Given the description of an element on the screen output the (x, y) to click on. 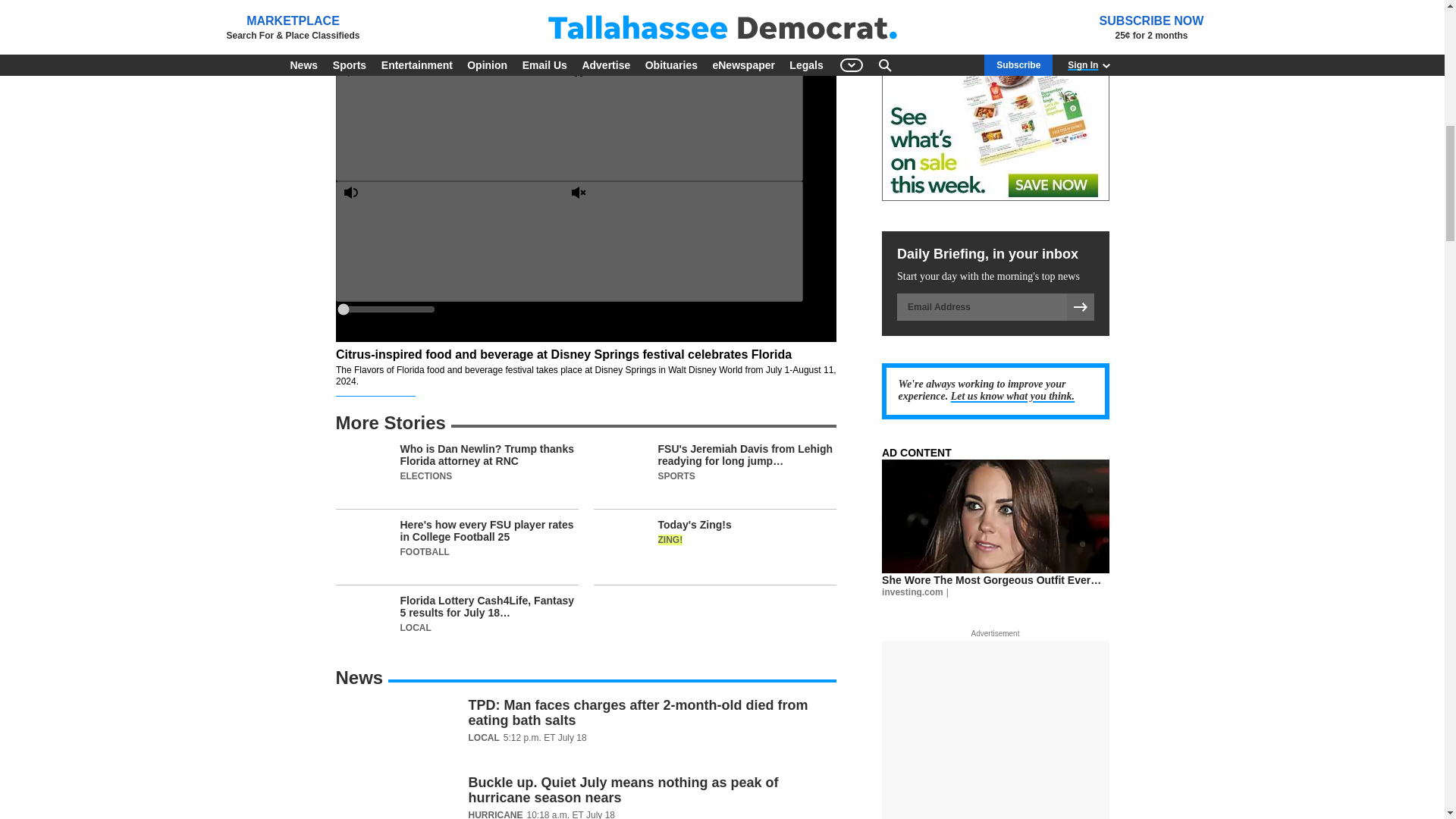
Exit Full Screen (682, 536)
Sound OnSound Off (568, 241)
Sound Off (682, 240)
Enter Full ScreenExit Full Screen (568, 537)
Who is Dan Newlin? Trump thanks Florida attorney at RNC (456, 476)
Play (454, 119)
Open Share (694, 417)
Pause (682, 119)
Today's Zing!s (713, 551)
PlayPause (568, 120)
Sound On (454, 240)
Enter Full Screen (454, 536)
